Given the description of an element on the screen output the (x, y) to click on. 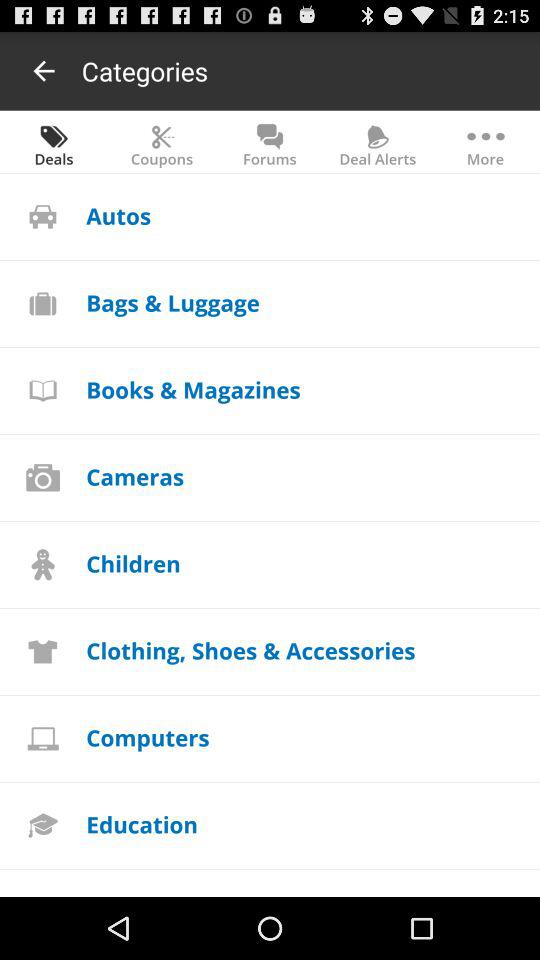
turn off icon above the deals app (44, 70)
